Given the description of an element on the screen output the (x, y) to click on. 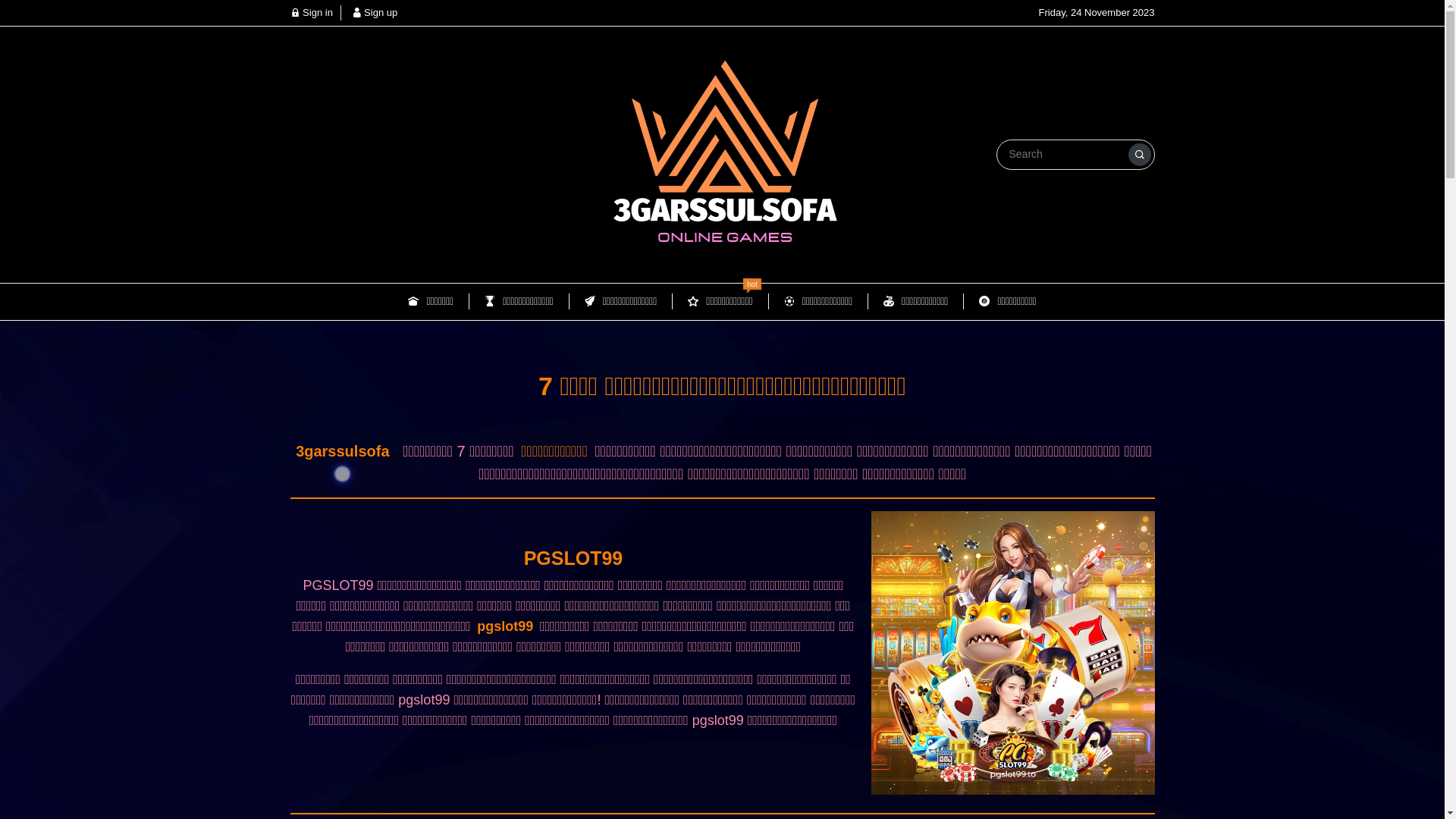
Sign up Element type: text (374, 12)
pgslot99 Element type: text (505, 625)
Sign in Element type: text (310, 12)
